Given the description of an element on the screen output the (x, y) to click on. 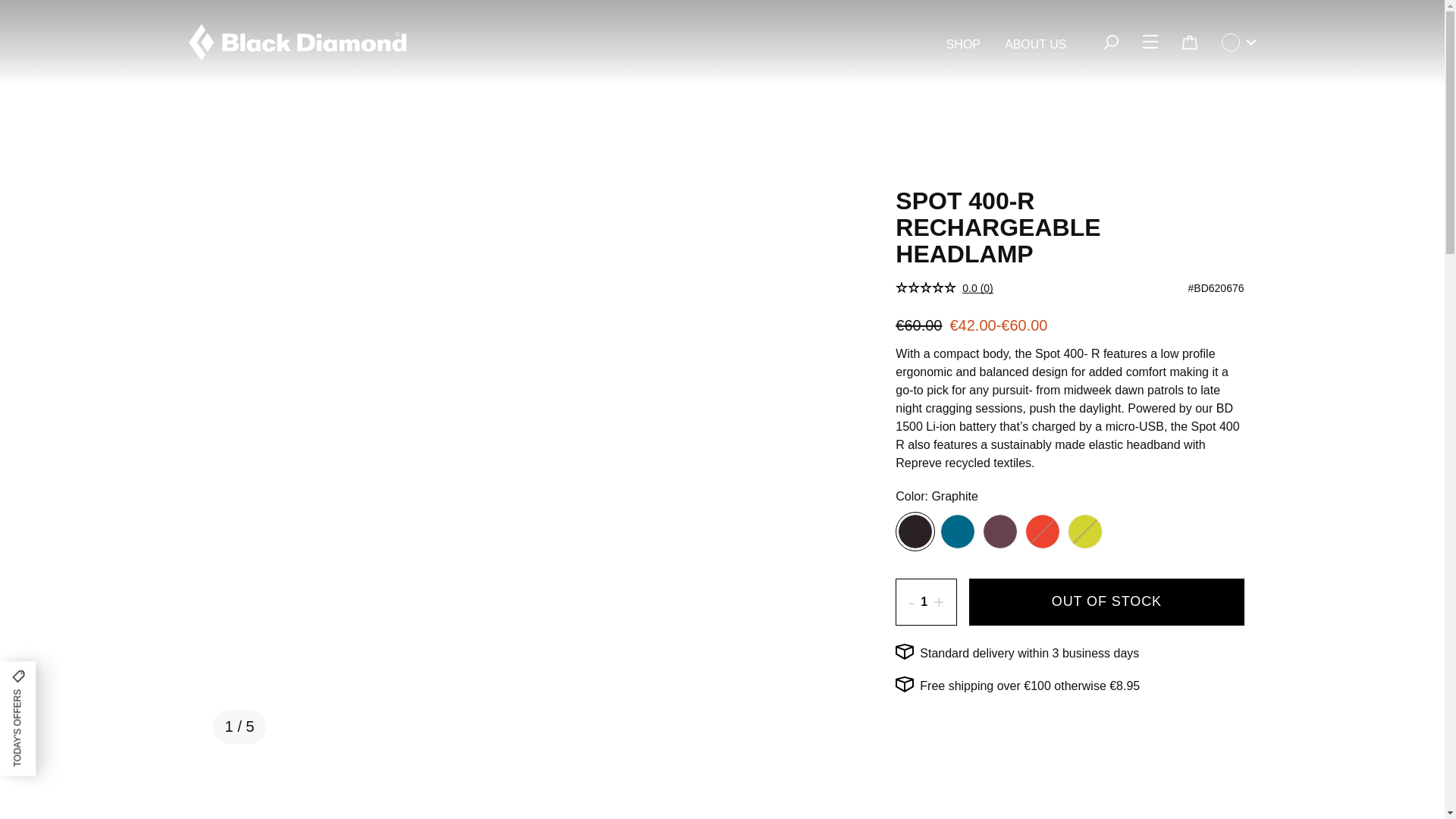
CART (1188, 42)
Bordeaux  (999, 531)
Black Diamond (296, 42)
Octane Out of Stock (1042, 531)
ABOUT US (1035, 44)
Change Locale (1238, 42)
Azul  (956, 531)
Optical Yellow Out of Stock (1085, 531)
Graphite  (914, 531)
SHOP (963, 44)
